Given the description of an element on the screen output the (x, y) to click on. 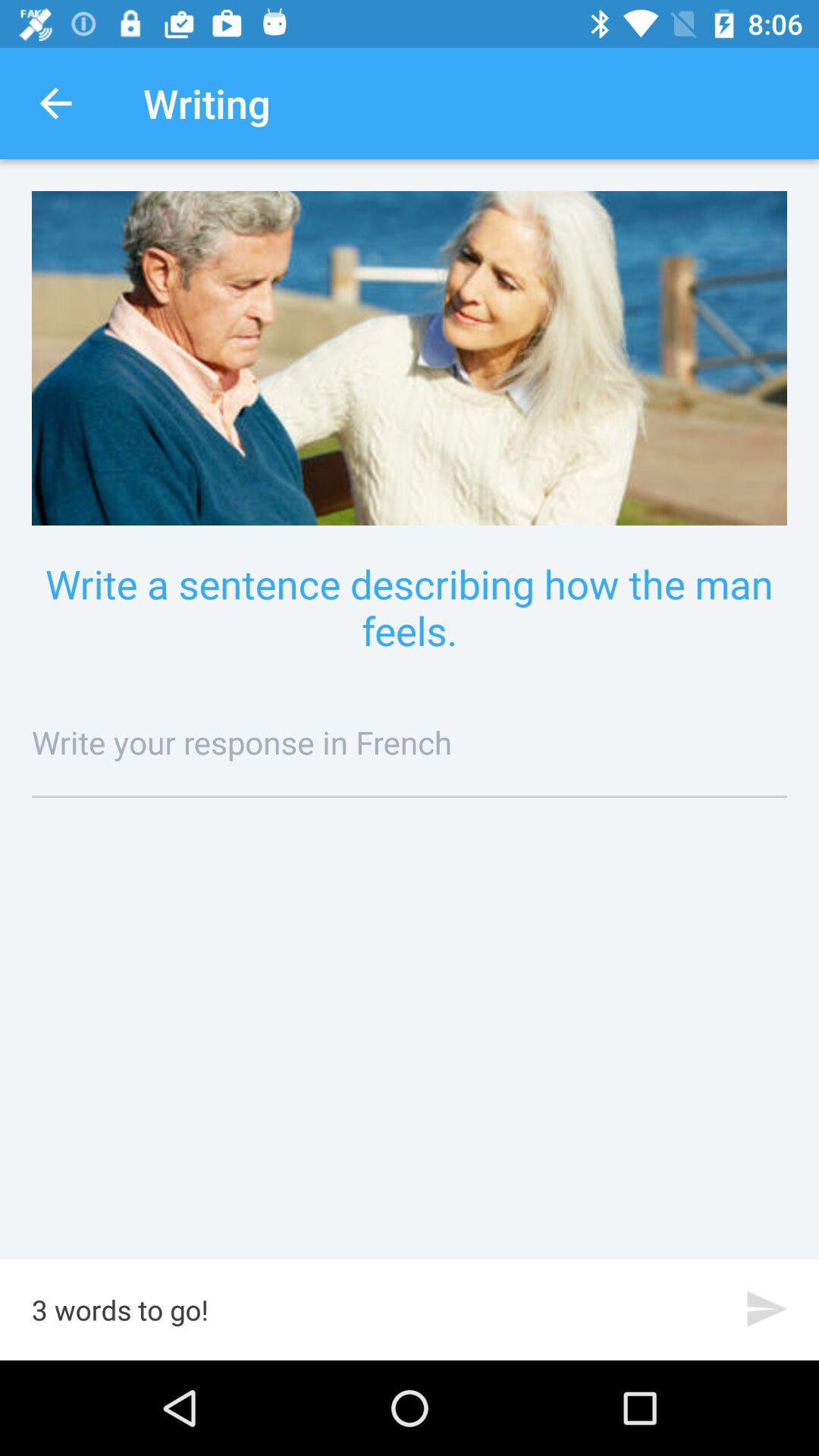
select the item next to the 3 words to (767, 1308)
